Given the description of an element on the screen output the (x, y) to click on. 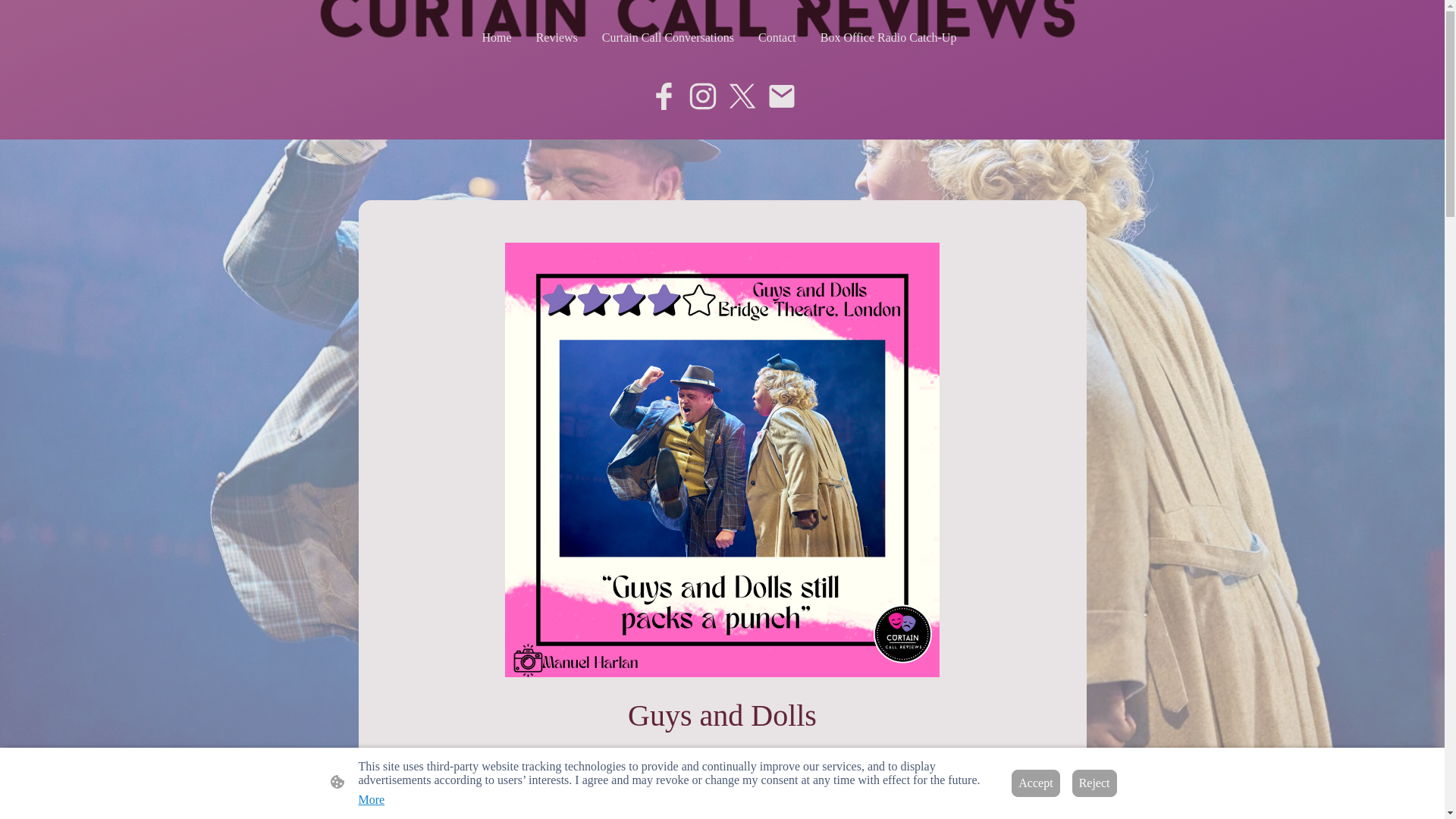
Home (496, 37)
Reviews (556, 37)
Contact (777, 37)
More (371, 799)
Box Office Radio Catch-Up (887, 37)
Reject (1093, 782)
Accept (1035, 782)
Curtain Call Conversations (667, 37)
